Given the description of an element on the screen output the (x, y) to click on. 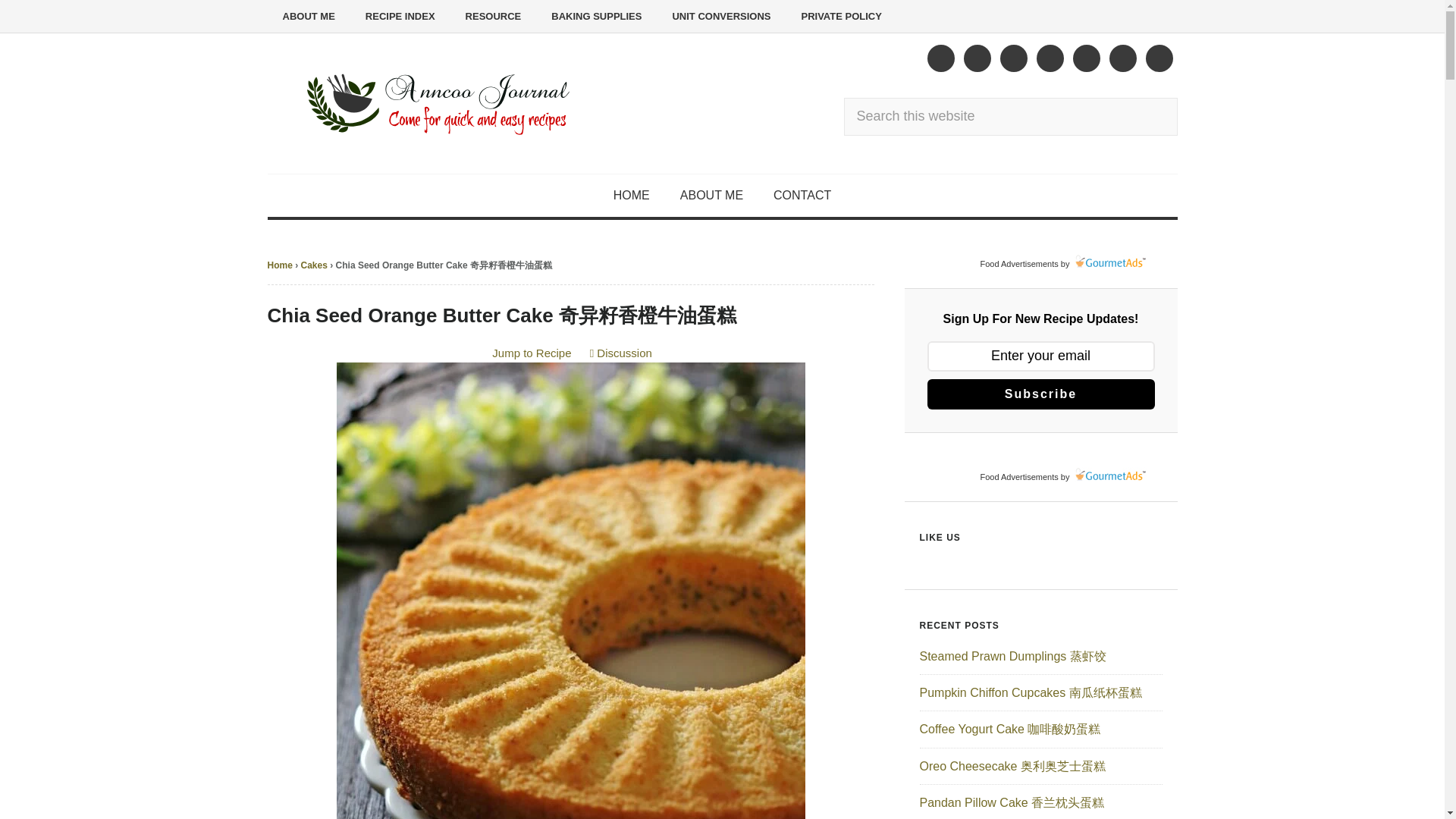
Discussion (620, 352)
RESOURCE (493, 16)
PRIVATE POLICY (841, 16)
ABOUT ME (307, 16)
Cakes (314, 265)
Home (279, 265)
RECIPE INDEX (399, 16)
UNIT CONVERSIONS (721, 16)
